Given the description of an element on the screen output the (x, y) to click on. 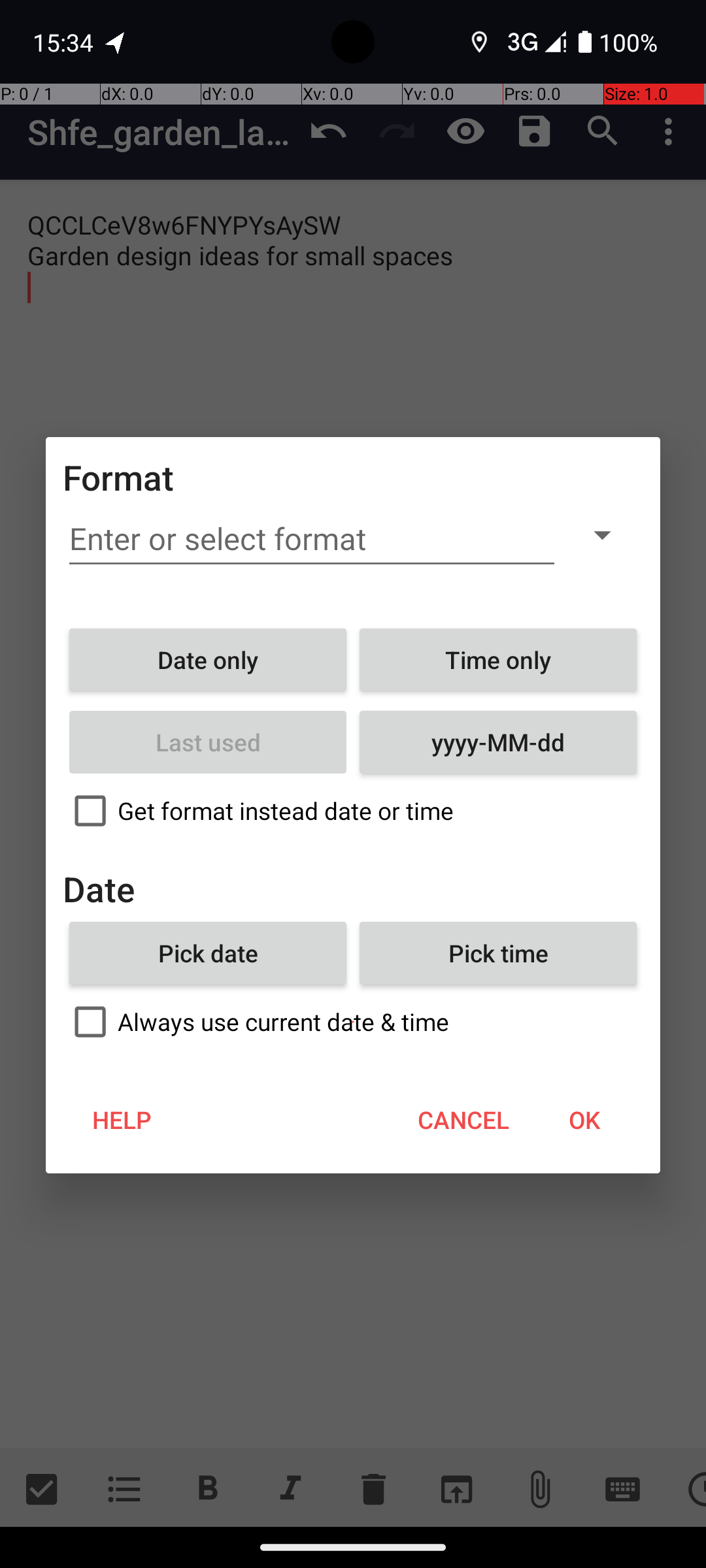
Format Element type: android.widget.TextView (118, 477)
Enter or select format Element type: android.widget.EditText (311, 538)
Choose format Element type: android.widget.TextView (601, 534)
Date only Element type: android.widget.Button (207, 659)
Time only Element type: android.widget.Button (498, 659)
Last used Element type: android.widget.Button (207, 742)
yyyy-MM-dd Element type: android.widget.Button (498, 742)
Get format instead date or time Element type: android.widget.CheckBox (352, 810)
Pick date Element type: android.widget.Button (207, 953)
Pick time Element type: android.widget.Button (498, 953)
Always use current date & time Element type: android.widget.CheckBox (352, 1021)
HELP Element type: android.widget.Button (121, 1119)
